Given the description of an element on the screen output the (x, y) to click on. 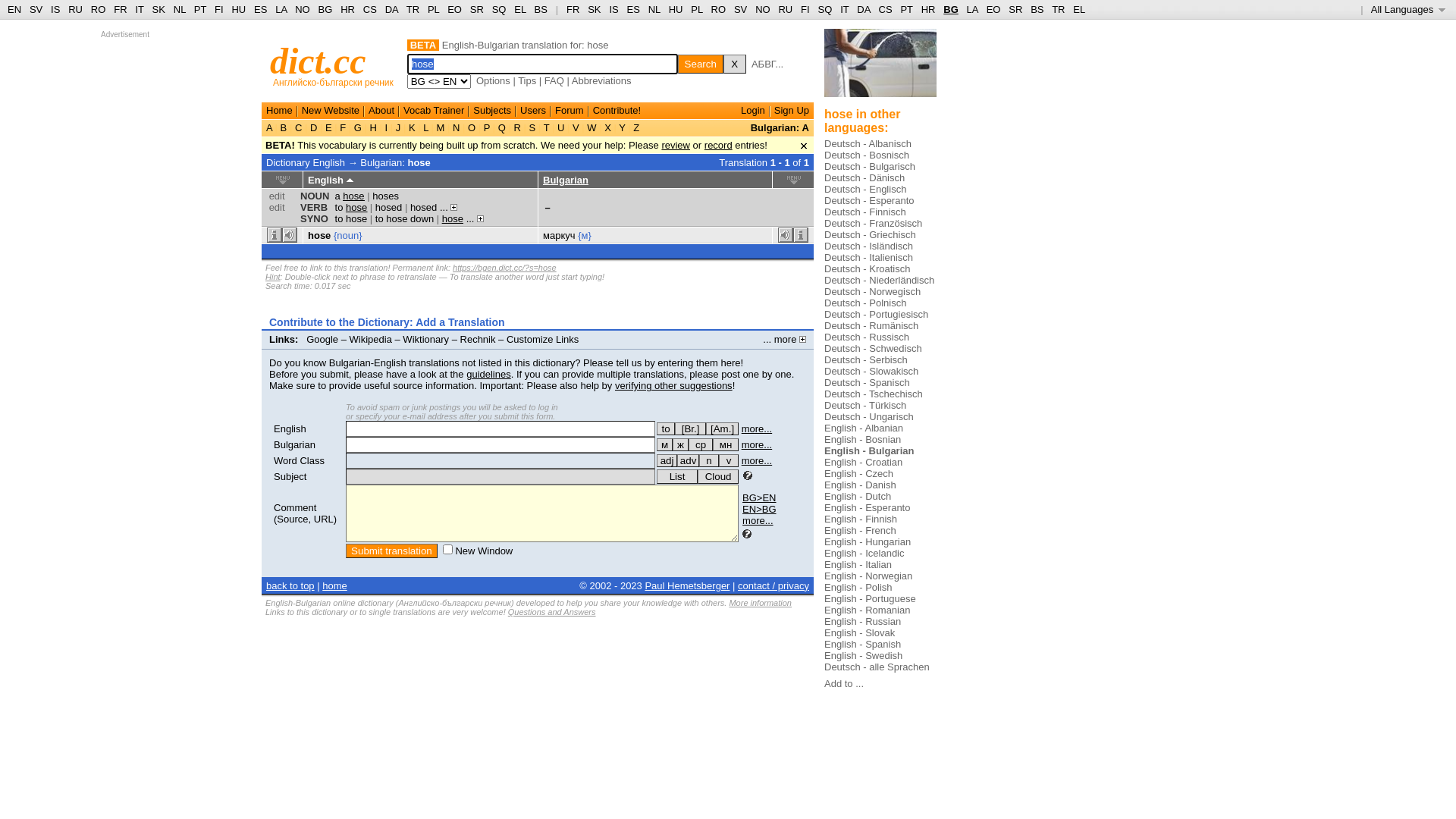
Deutsch - Polnisch Element type: text (865, 302)
English - Esperanto Element type: text (867, 507)
NL Element type: text (654, 9)
M Element type: text (440, 127)
ES Element type: text (260, 9)
BS Element type: text (1036, 9)
LA Element type: text (280, 9)
SV Element type: text (35, 9)
... more Element type: text (784, 339)
Rechnik Element type: text (477, 339)
Dictionary Element type: text (288, 161)
All Languages  Element type: text (1408, 9)
E Element type: text (328, 127)
hose Element type: text (318, 234)
Deutsch - Serbisch Element type: text (865, 359)
New Website Element type: text (330, 110)
Users Element type: text (533, 110)
guidelines Element type: text (488, 373)
FR Element type: text (572, 9)
BG Element type: text (950, 9)
DA Element type: text (391, 9)
to hose down Element type: text (404, 218)
PT Element type: text (906, 9)
HR Element type: text (347, 9)
hose Element type: text (418, 161)
PT Element type: text (200, 9)
Search Element type: text (700, 63)
EO Element type: text (993, 9)
English Element type: text (289, 428)
BS Element type: text (540, 9)
home Element type: text (334, 585)
IT Element type: text (844, 9)
H Element type: text (373, 127)
CS Element type: text (369, 9)
Deutsch - Ungarisch Element type: text (868, 416)
Customize Links Element type: text (542, 339)
IS Element type: text (613, 9)
Deutsch - Tschechisch Element type: text (873, 393)
NO Element type: text (762, 9)
EN Element type: text (14, 9)
Deutsch - Finnisch Element type: text (865, 211)
Deutsch - Esperanto Element type: text (869, 200)
Wikipedia Element type: text (370, 339)
(esp.) British English Element type: hover (690, 428)
...  Element type: text (448, 207)
SR Element type: text (476, 9)
more... Element type: text (756, 444)
English - Slovak Element type: text (859, 632)
RU Element type: text (75, 9)
English - Norwegian Element type: text (868, 575)
Paul Hemetsberger Element type: text (686, 585)
LA Element type: text (972, 9)
to hose Element type: text (351, 207)
Tips Element type: text (526, 80)
to Element type: text (665, 428)
Deutsch - alle Sprachen Element type: text (876, 666)
Q Element type: text (501, 127)
hosed Element type: text (388, 207)
Questions and Answers Element type: text (552, 611)
[Br.] Element type: text (690, 428)
Home Element type: text (279, 110)
more... Element type: text (757, 520)
Subjects Element type: text (492, 110)
adj Element type: text (666, 460)
SQ Element type: text (499, 9)
Deutsch - Bosnisch Element type: text (866, 154)
v Element type: text (728, 460)
Deutsch - Griechisch Element type: text (870, 234)
man spraying car with hose  mid ... Element type: hover (880, 68)
CS Element type: text (884, 9)
Z Element type: text (636, 127)
RU Element type: text (785, 9)
English - Italian Element type: text (857, 564)
TR Element type: text (412, 9)
Deutsch - Slowakisch Element type: text (871, 370)
Google Element type: text (322, 339)
more... Element type: text (756, 460)
G Element type: text (357, 127)
HU Element type: text (675, 9)
English - Czech Element type: text (858, 473)
F Element type: text (342, 127)
EO Element type: text (454, 9)
BG>EN Element type: text (758, 497)
English - Swedish Element type: text (863, 655)
Deutsch - Kroatisch Element type: text (867, 268)
Deutsch - Russisch Element type: text (866, 336)
FI Element type: text (804, 9)
edit Element type: text (277, 207)
T Element type: text (546, 127)
I Element type: text (386, 127)
English - Portuguese Element type: text (870, 598)
X Element type: text (608, 127)
for verbs Element type: hover (665, 428)
English - Danish Element type: text (860, 484)
Deutsch - Italienisch Element type: text (868, 257)
Bulgarian Element type: text (294, 444)
EN>BG Element type: text (758, 508)
HU Element type: text (238, 9)
SR Element type: text (1015, 9)
Y Element type: text (621, 127)
Deutsch - Bulgarisch Element type: text (869, 166)
back to top Element type: text (290, 585)
English - Russian Element type: text (862, 621)
IT Element type: text (138, 9)
Login Element type: text (752, 110)
RO Element type: text (718, 9)
EL Element type: text (1079, 9)
S Element type: text (532, 127)
K Element type: text (411, 127)
P Element type: text (486, 127)
record Element type: text (718, 144)
Bulgarian Element type: text (565, 179)
...  Element type: text (474, 218)
review Element type: text (675, 144)
O Element type: text (470, 127)
IS Element type: text (54, 9)
https://bgen.dict.cc/?s=hose Element type: text (504, 267)
English - French Element type: text (860, 530)
B Element type: text (283, 127)
dict.cc Element type: text (317, 60)
EL Element type: text (519, 9)
more... Element type: text (756, 428)
Sign Up Element type: text (791, 110)
hoses Element type: text (385, 195)
A Element type: text (270, 127)
J Element type: text (397, 127)
Deutsch - Norwegisch Element type: text (872, 291)
PL Element type: text (696, 9)
X Element type: text (734, 63)
adv Element type: text (688, 460)
SK Element type: text (158, 9)
Deutsch - Englisch Element type: text (865, 188)
English - Croatian Element type: text (863, 461)
edit Element type: text (277, 195)
BG Element type: text (325, 9)
SK Element type: text (593, 9)
English - Bulgarian Element type: text (868, 450)
Submit translation Element type: text (391, 550)
ES Element type: text (633, 9)
hose Element type: text (452, 218)
More information Element type: text (759, 602)
n Element type: text (708, 460)
a hose Element type: text (349, 195)
List Element type: text (676, 476)
U Element type: text (560, 127)
English - Bosnian Element type: text (862, 439)
NO Element type: text (302, 9)
Add to ... Element type: text (843, 683)
N Element type: text (455, 127)
Deutsch - Schwedisch Element type: text (873, 348)
English - Albanian Element type: text (863, 427)
hosed Element type: text (423, 207)
English - Icelandic Element type: text (864, 552)
NL Element type: text (179, 9)
R Element type: text (517, 127)
English - Romanian Element type: text (867, 609)
About Element type: text (381, 110)
[Am.] Element type: text (722, 428)
contact / privacy Element type: text (773, 585)
to hose Element type: text (351, 218)
Contribute! Element type: text (617, 110)
Cloud Element type: text (717, 476)
Forum Element type: text (569, 110)
(esp.) American English Element type: hover (722, 428)
English - Hungarian Element type: text (867, 541)
SV Element type: text (740, 9)
C Element type: text (297, 127)
Deutsch - Spanisch Element type: text (867, 382)
HR Element type: text (928, 9)
Vocab Trainer Element type: text (433, 110)
Abbreviations Element type: text (601, 80)
TR Element type: text (1057, 9)
English - Polish Element type: text (858, 587)
verifying other suggestions Element type: text (673, 385)
Deutsch - Albanisch Element type: text (867, 143)
FI Element type: text (218, 9)
DA Element type: text (862, 9)
Wiktionary Element type: text (425, 339)
FR Element type: text (119, 9)
English - Finnish Element type: text (860, 518)
RO Element type: text (98, 9)
PL Element type: text (433, 9)
L Element type: text (425, 127)
Hint Element type: text (272, 276)
W Element type: text (591, 127)
Deutsch - Portugiesisch Element type: text (876, 314)
V Element type: text (575, 127)
English - Spanish Element type: text (862, 643)
SQ Element type: text (824, 9)
English - Dutch Element type: text (857, 496)
Contribute to the Dictionary: Add a Translation Element type: text (387, 322)
D Element type: text (313, 127)
FAQ Element type: text (554, 80)
Options Element type: text (493, 80)
